Given the description of an element on the screen output the (x, y) to click on. 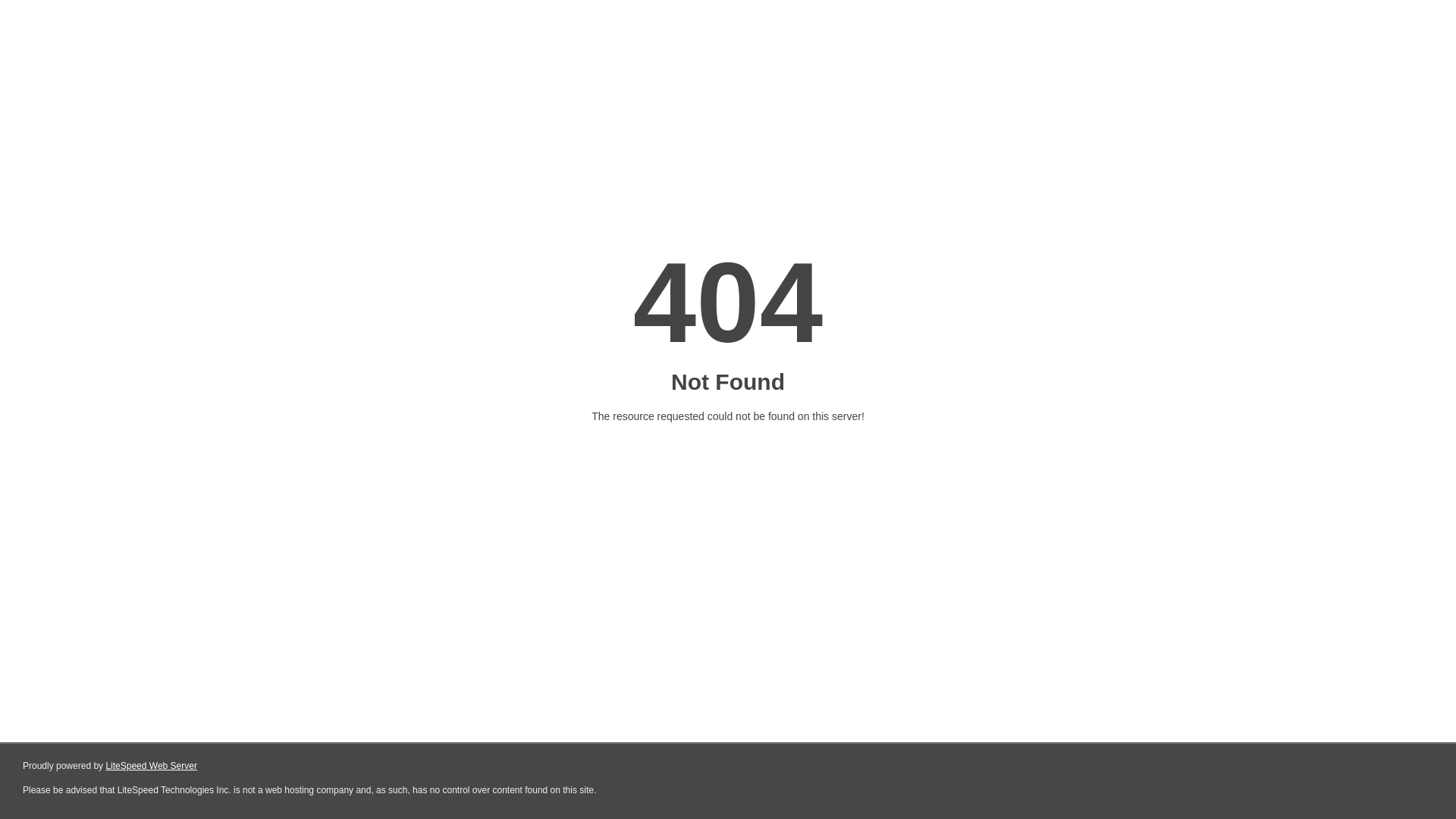
LiteSpeed Web Server Element type: text (151, 765)
